Given the description of an element on the screen output the (x, y) to click on. 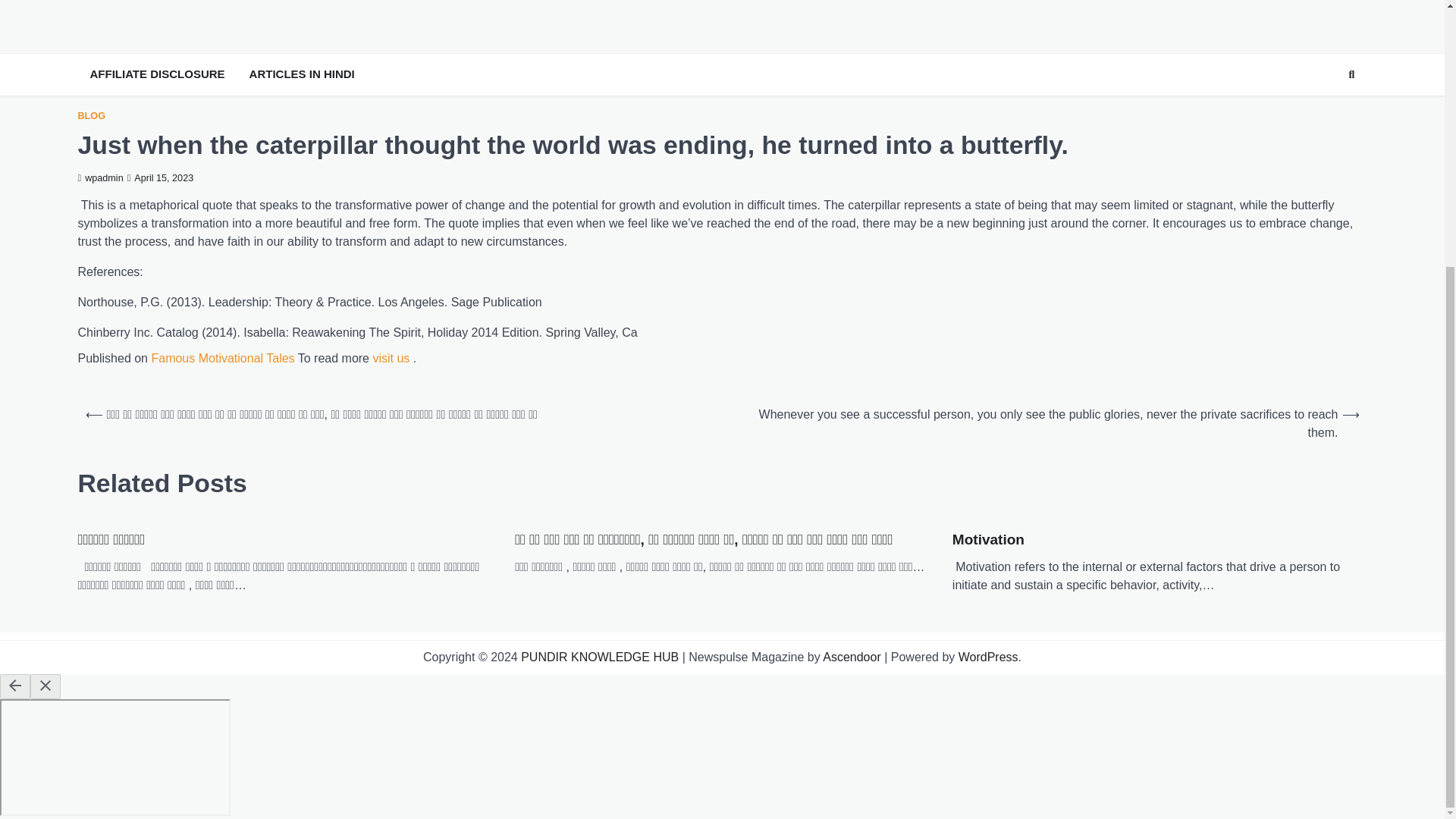
AFFILIATE DISCLOSURE (156, 74)
visit us (390, 358)
BLOG (90, 116)
wpadmin (99, 177)
Advertisement (721, 22)
Motivation (988, 540)
ARTICLES IN HINDI (302, 74)
WordPress (987, 656)
Famous Motivational Tales (222, 358)
Search (1351, 74)
